Given the description of an element on the screen output the (x, y) to click on. 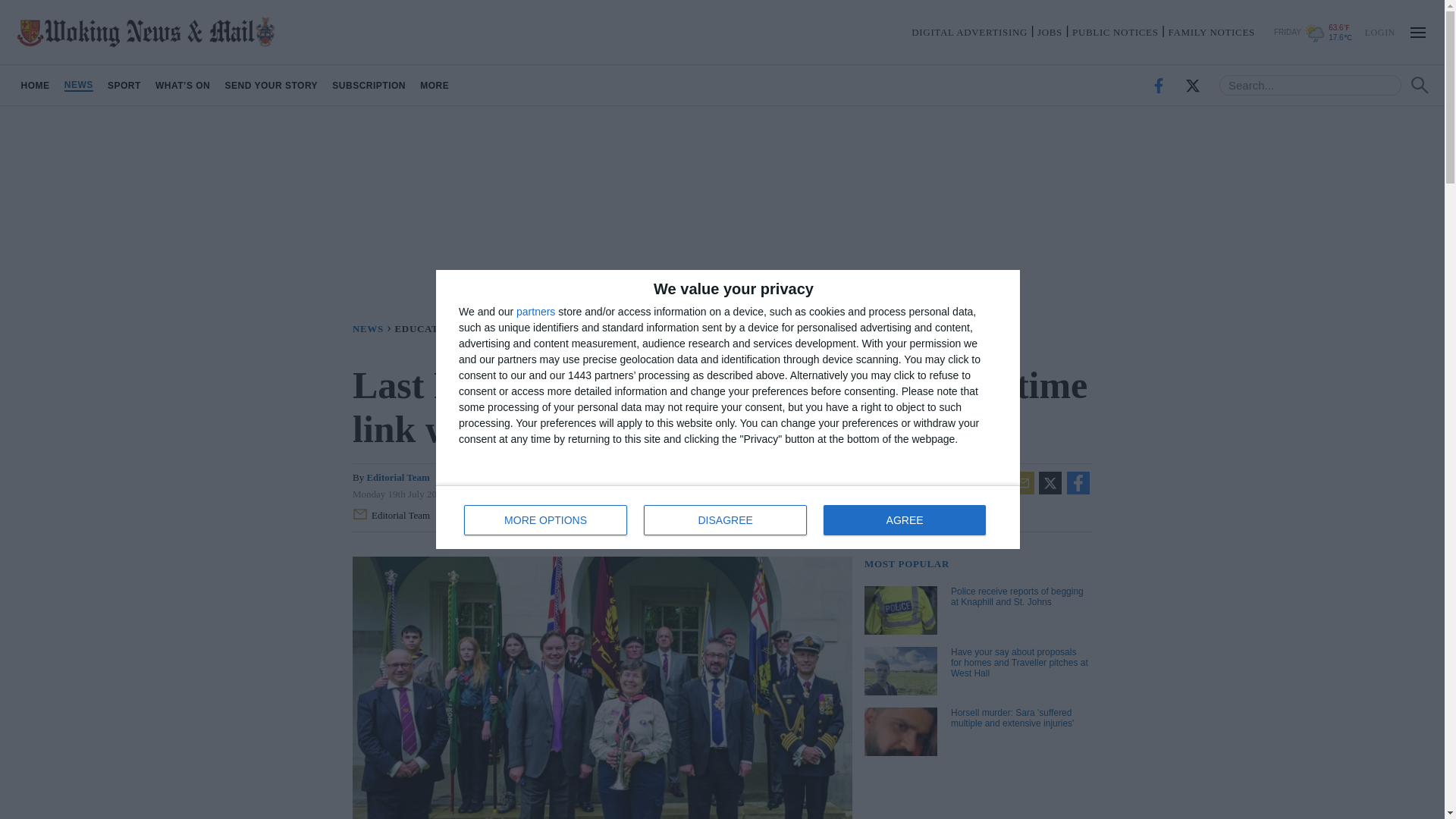
MORE OPTIONS (727, 516)
partners (545, 520)
LOGIN (535, 311)
SPORT (1379, 31)
FAMILY NOTICES (124, 85)
NEWS (1212, 32)
Editorial Team (373, 328)
Editorial Team (397, 477)
AGREE (395, 515)
SUBSCRIPTION (904, 520)
SEND YOUR STORY (368, 85)
MORE (270, 85)
HOME (435, 85)
DISAGREE (34, 85)
